Given the description of an element on the screen output the (x, y) to click on. 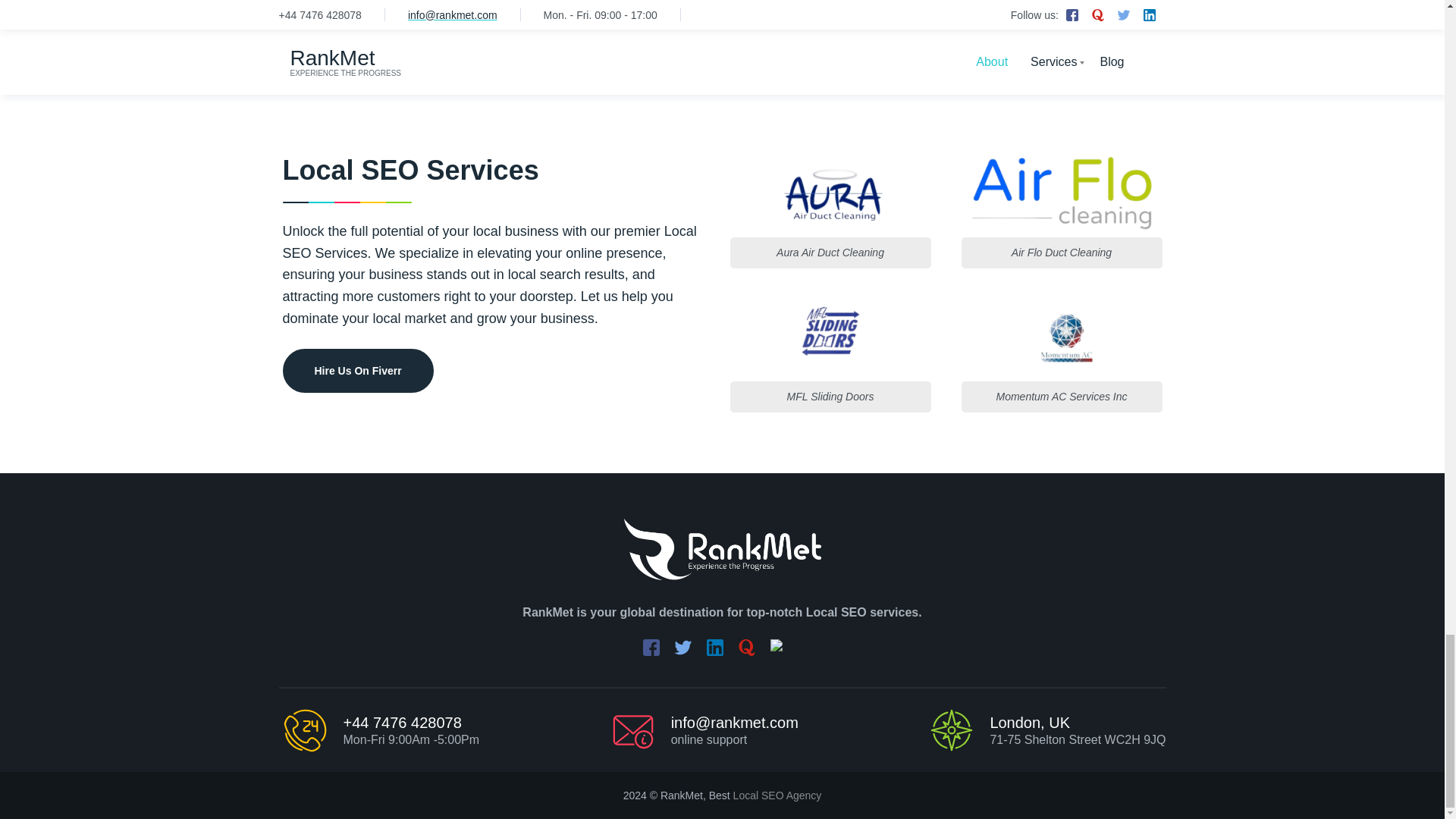
Hire Us On Fiverr (357, 370)
